Given the description of an element on the screen output the (x, y) to click on. 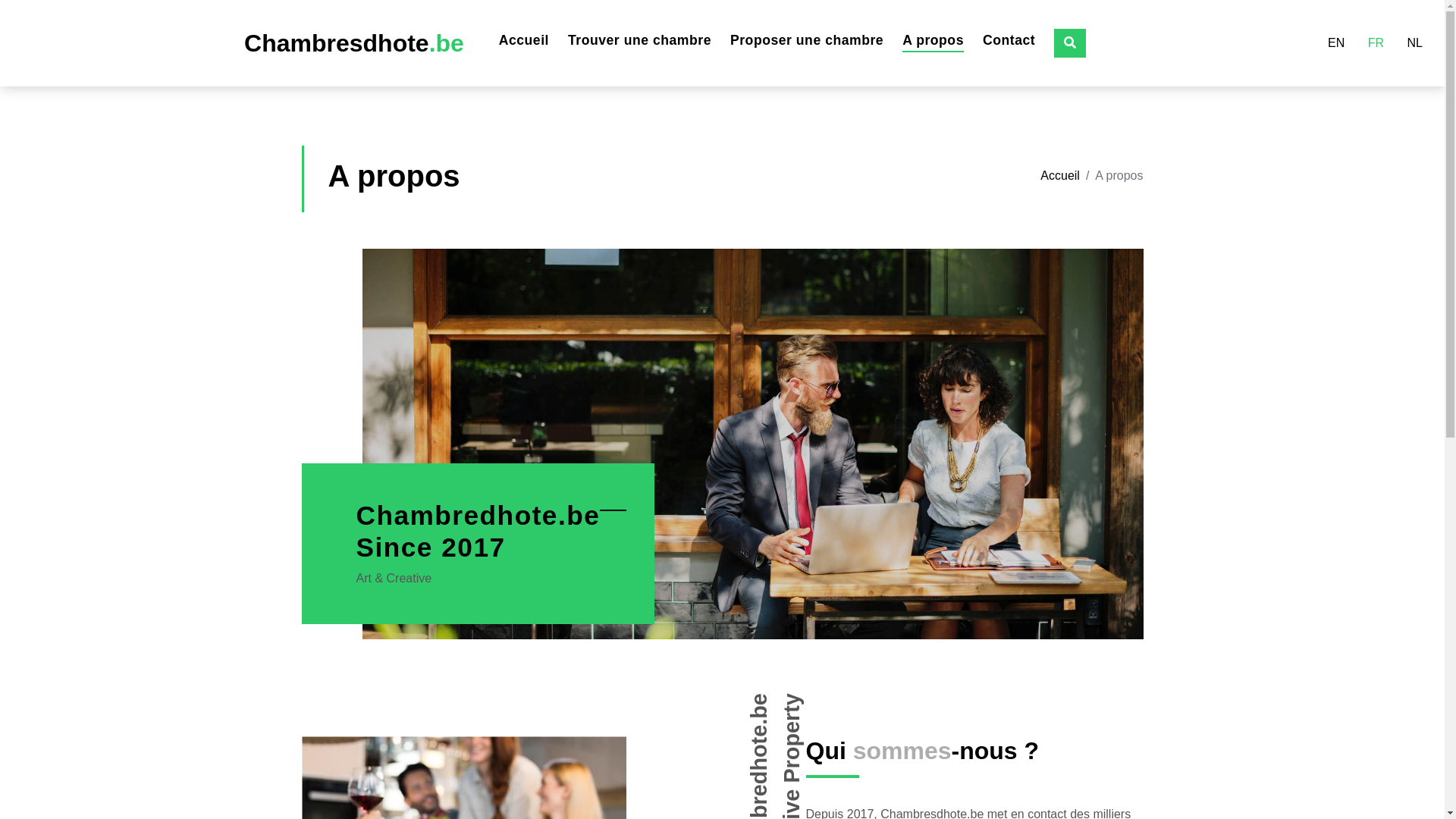
EN Element type: text (1335, 42)
A propos Element type: text (932, 40)
Accueil Element type: text (1059, 175)
Trouver une chambre Element type: text (639, 40)
NL Element type: text (1414, 42)
Proposer une chambre Element type: text (806, 40)
Accueil Element type: text (523, 40)
Chambresdhote.be Element type: text (354, 43)
FR Element type: text (1375, 42)
Contact Element type: text (1008, 40)
